Given the description of an element on the screen output the (x, y) to click on. 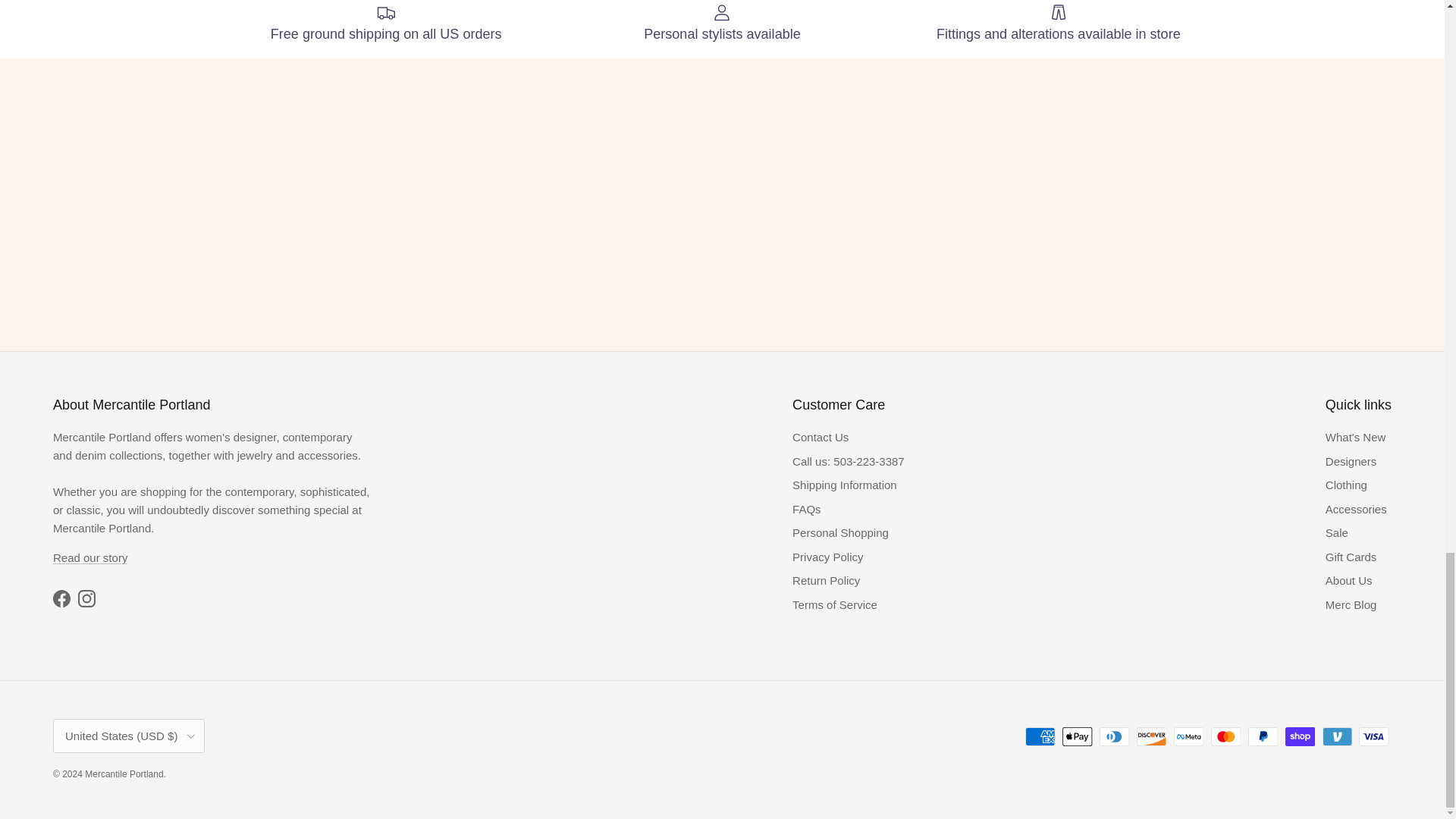
Apple Pay (1077, 736)
Mercantile Portland on Instagram (87, 598)
American Express (1040, 736)
Mercantile Portland on Facebook (60, 598)
ABOUT US (90, 557)
